Given the description of an element on the screen output the (x, y) to click on. 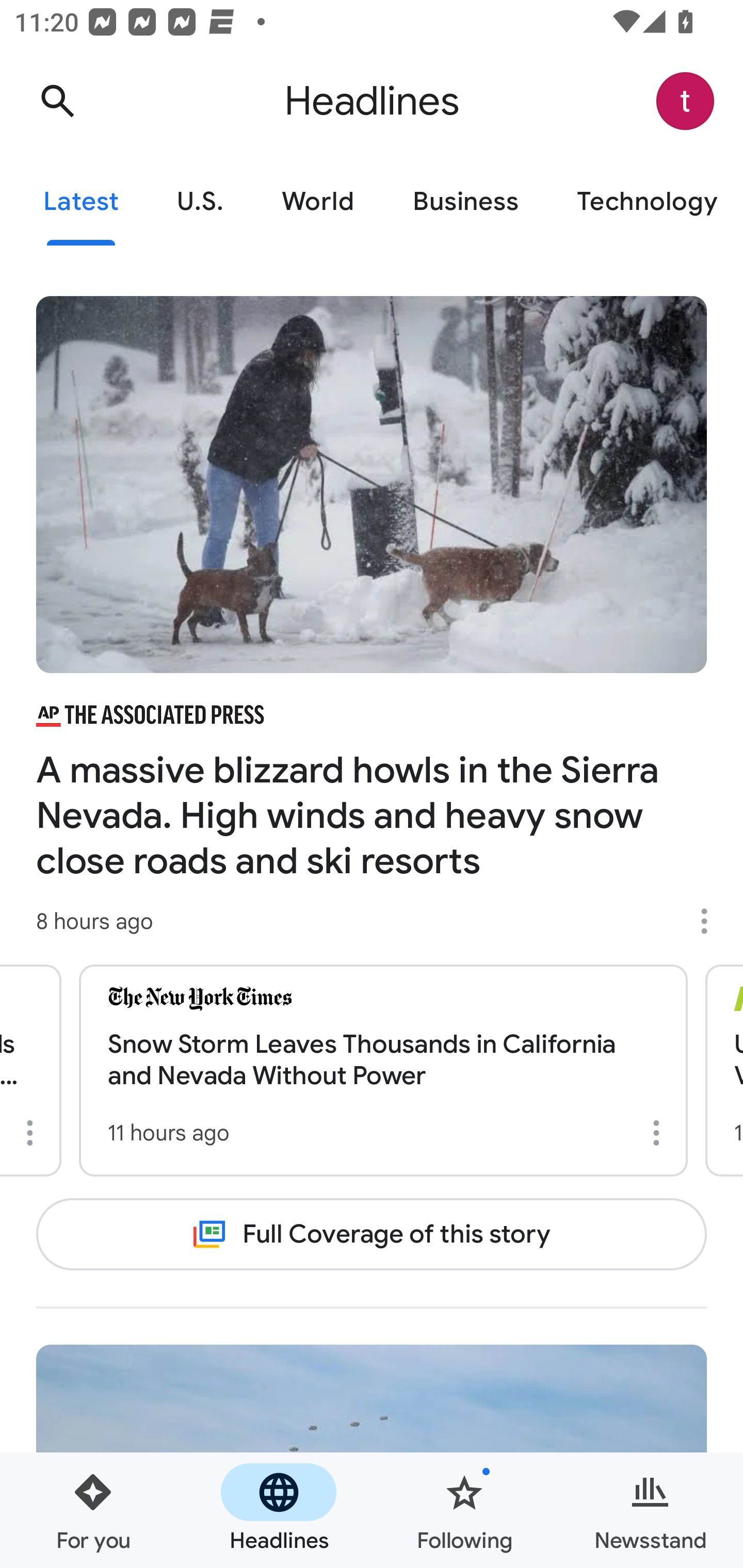
Search (57, 100)
U.S. (199, 202)
World (317, 202)
Business (465, 202)
Technology (645, 202)
More options (711, 921)
More options (33, 1132)
More options (660, 1132)
Full Coverage of this story (371, 1233)
For you (92, 1509)
Headlines (278, 1509)
Following (464, 1509)
Newsstand (650, 1509)
